Given the description of an element on the screen output the (x, y) to click on. 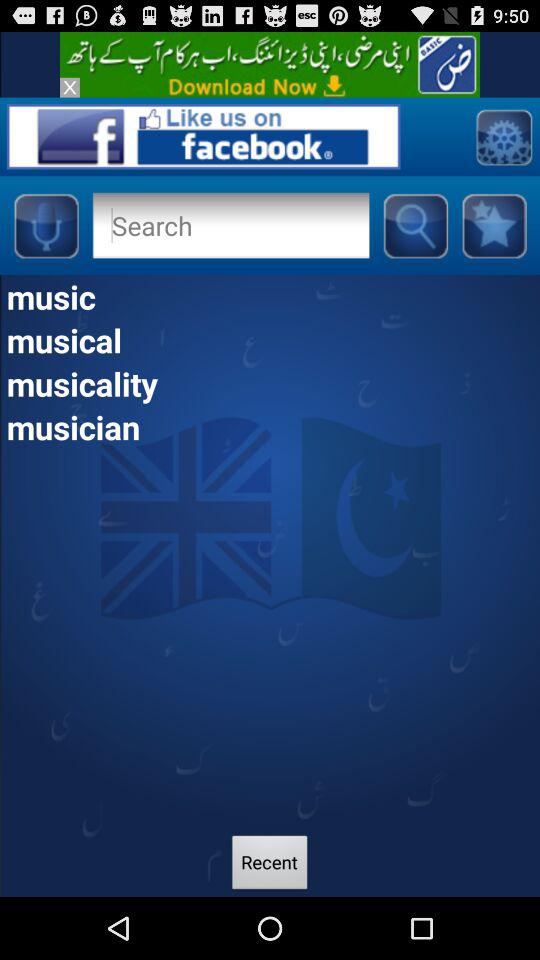
search app (230, 225)
